Given the description of an element on the screen output the (x, y) to click on. 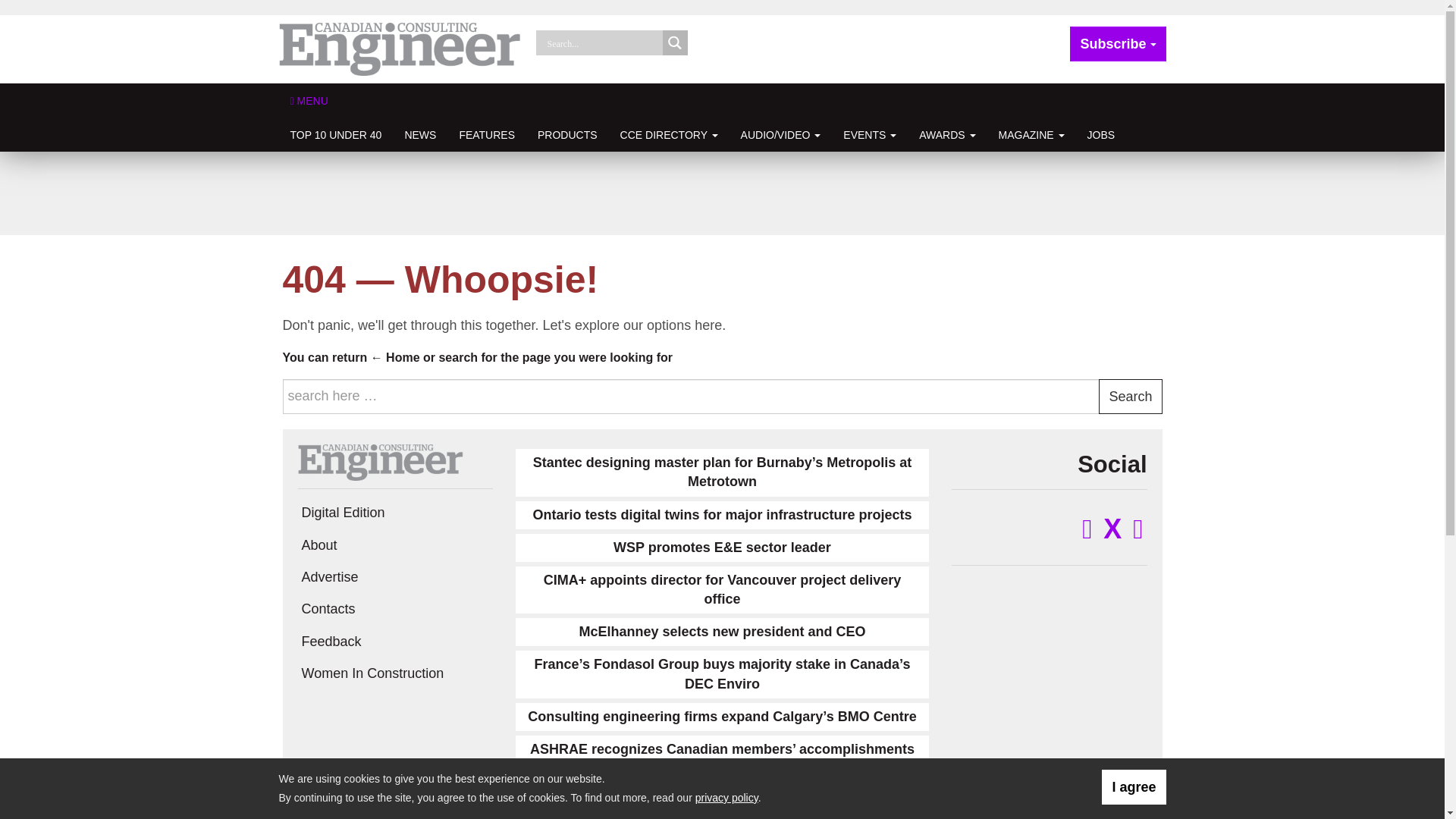
Canadian Consulting Engineer (380, 461)
PRODUCTS (566, 134)
CCE DIRECTORY (668, 134)
EVENTS (869, 134)
Subscribe (1118, 43)
MAGAZINE (1031, 134)
TOP 10 UNDER 40 (336, 134)
Click to show site navigation (309, 100)
Home (395, 357)
3rd party ad content (721, 192)
JOBS (1100, 134)
FEATURES (485, 134)
Canadian Consulting Engineer (400, 48)
NEWS (419, 134)
AWARDS (947, 134)
